Given the description of an element on the screen output the (x, y) to click on. 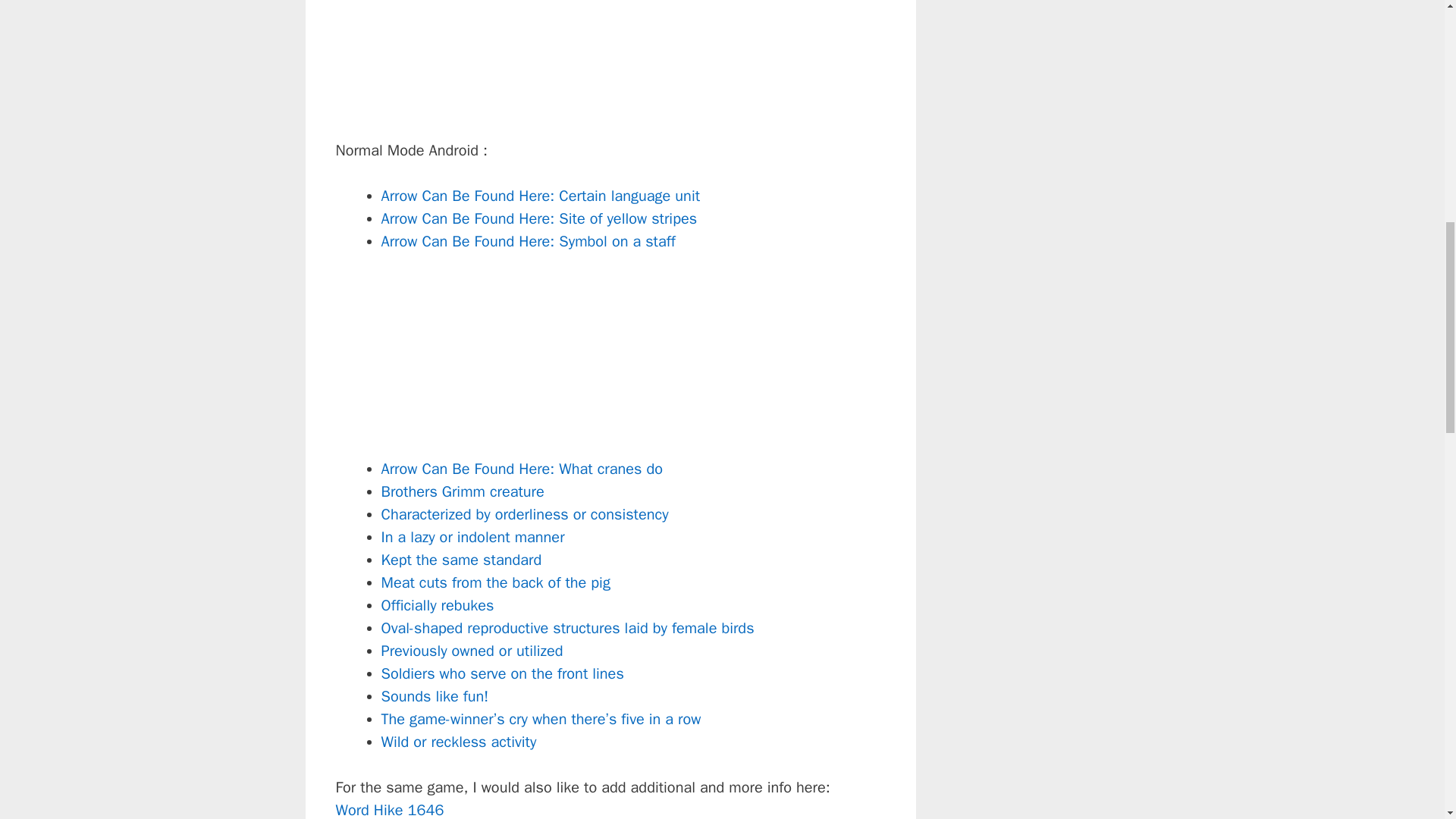
Arrow Can Be Found Here: Symbol on a staff (527, 240)
Meat cuts from the back of the pig (495, 582)
Oval-shaped reproductive structures laid by female birds (567, 628)
Arrow Can Be Found Here: What cranes do (521, 468)
Brothers Grimm creature (461, 491)
Kept the same standard (460, 559)
Sounds like fun! (433, 696)
Previously owned or utilized (471, 650)
Wild or reckless activity (457, 741)
Arrow Can Be Found Here: Certain language unit (540, 195)
Characterized by orderliness or consistency (524, 514)
Soldiers who serve on the front lines (501, 673)
Arrow Can Be Found Here: Site of yellow stripes (538, 218)
Word Hike 1646 (389, 809)
Officially rebukes (436, 605)
